Given the description of an element on the screen output the (x, y) to click on. 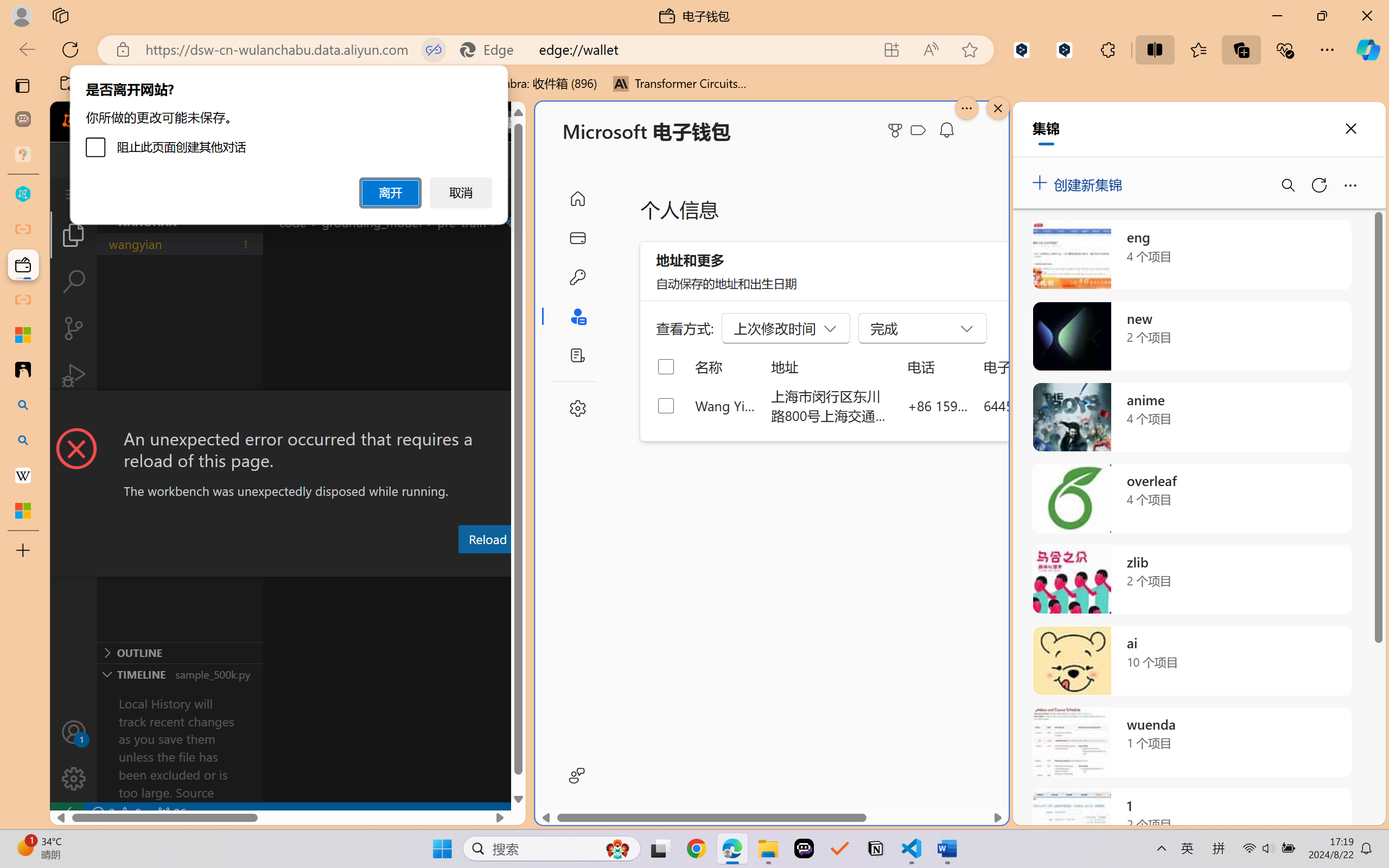
Microsoft Rewards (896, 129)
Wang Yian (725, 405)
Close Dialog (520, 410)
Extensions (Ctrl+Shift+X) (73, 422)
Microsoft Cashback (920, 130)
